Given the description of an element on the screen output the (x, y) to click on. 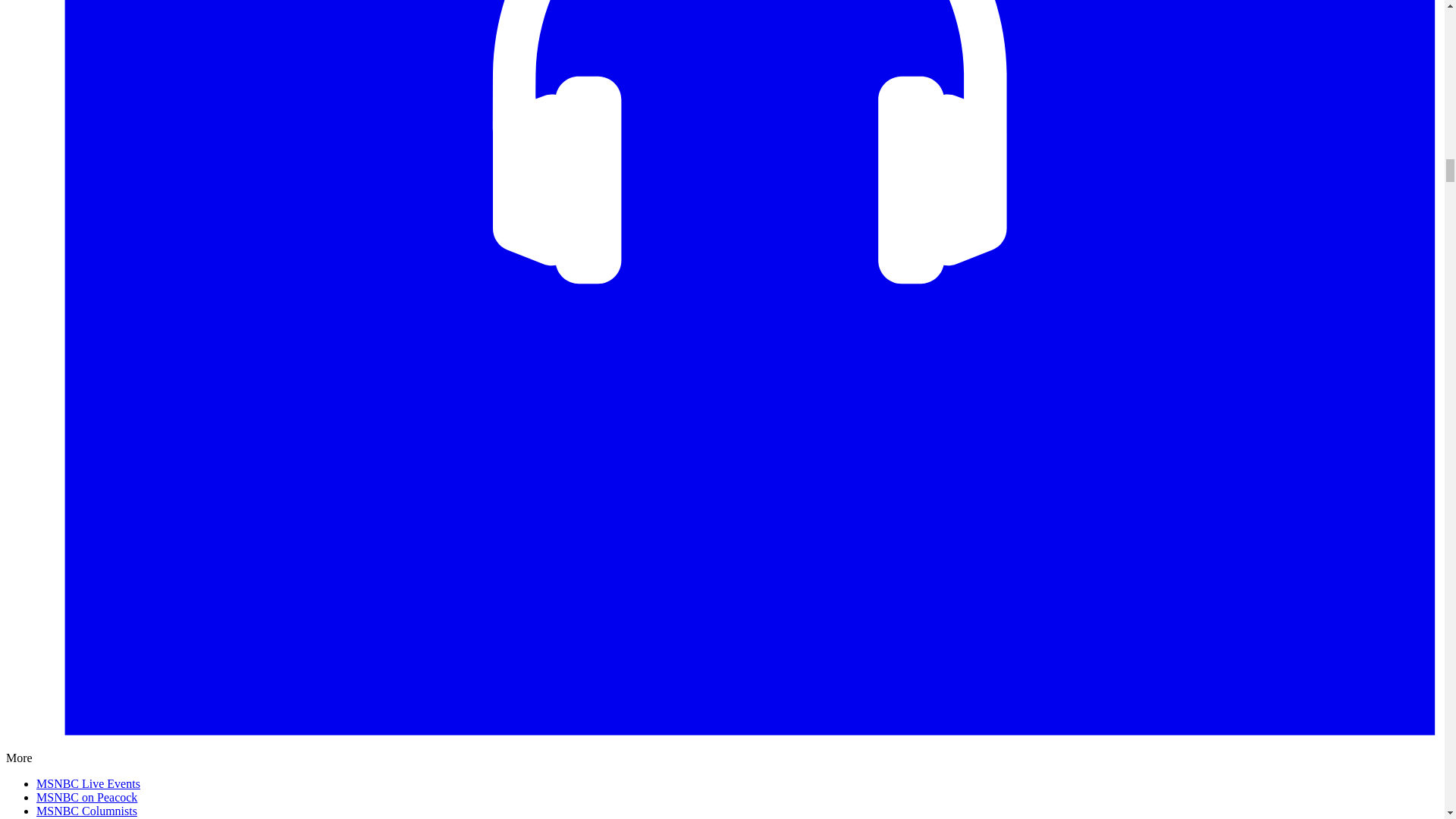
MSNBC Live Events (87, 783)
MSNBC on Peacock (86, 797)
